Given the description of an element on the screen output the (x, y) to click on. 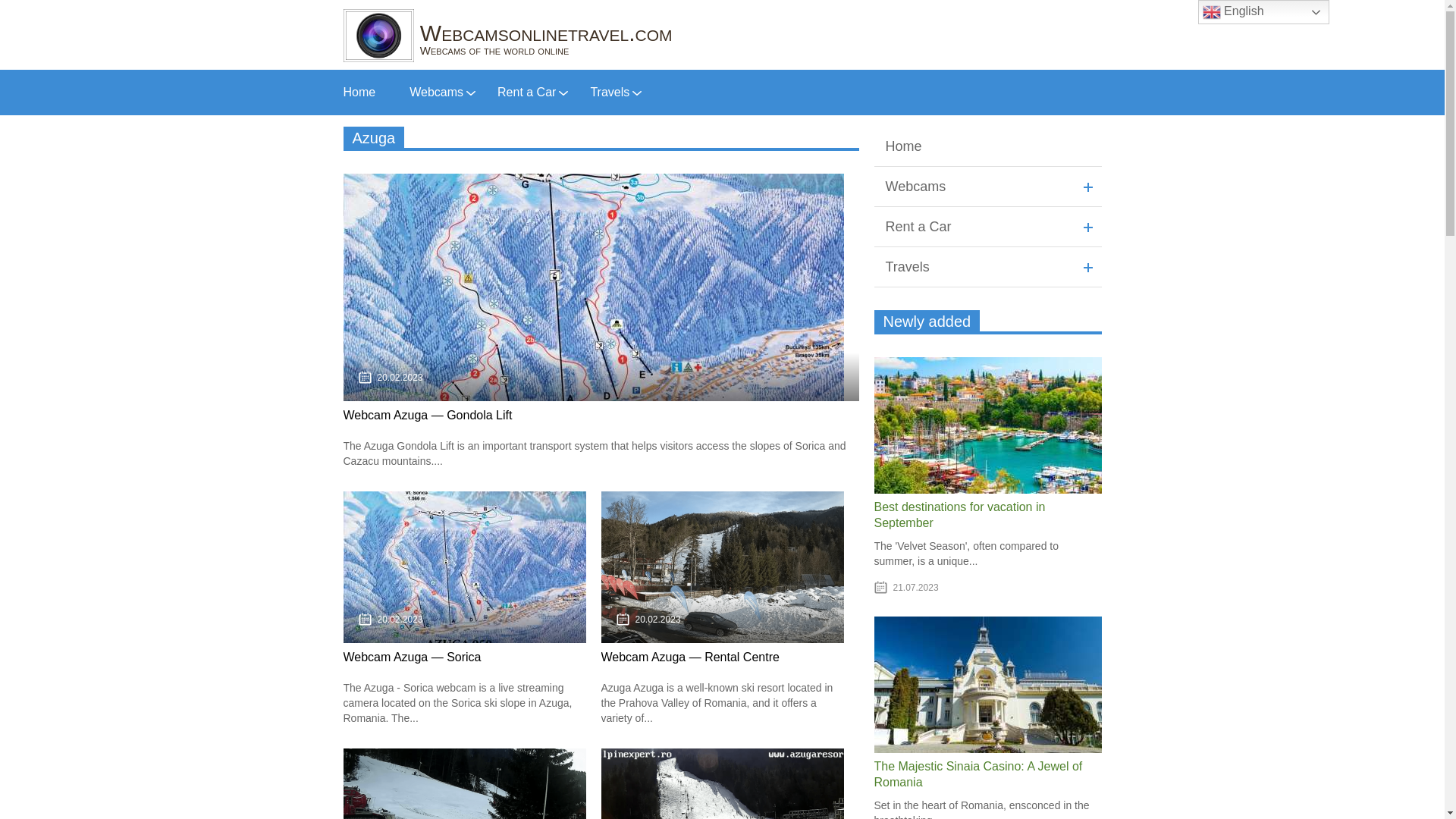
Webcams (436, 91)
Home (986, 146)
Travels (608, 91)
Webcams (986, 187)
Rent a Car (526, 91)
Home (358, 91)
